Given the description of an element on the screen output the (x, y) to click on. 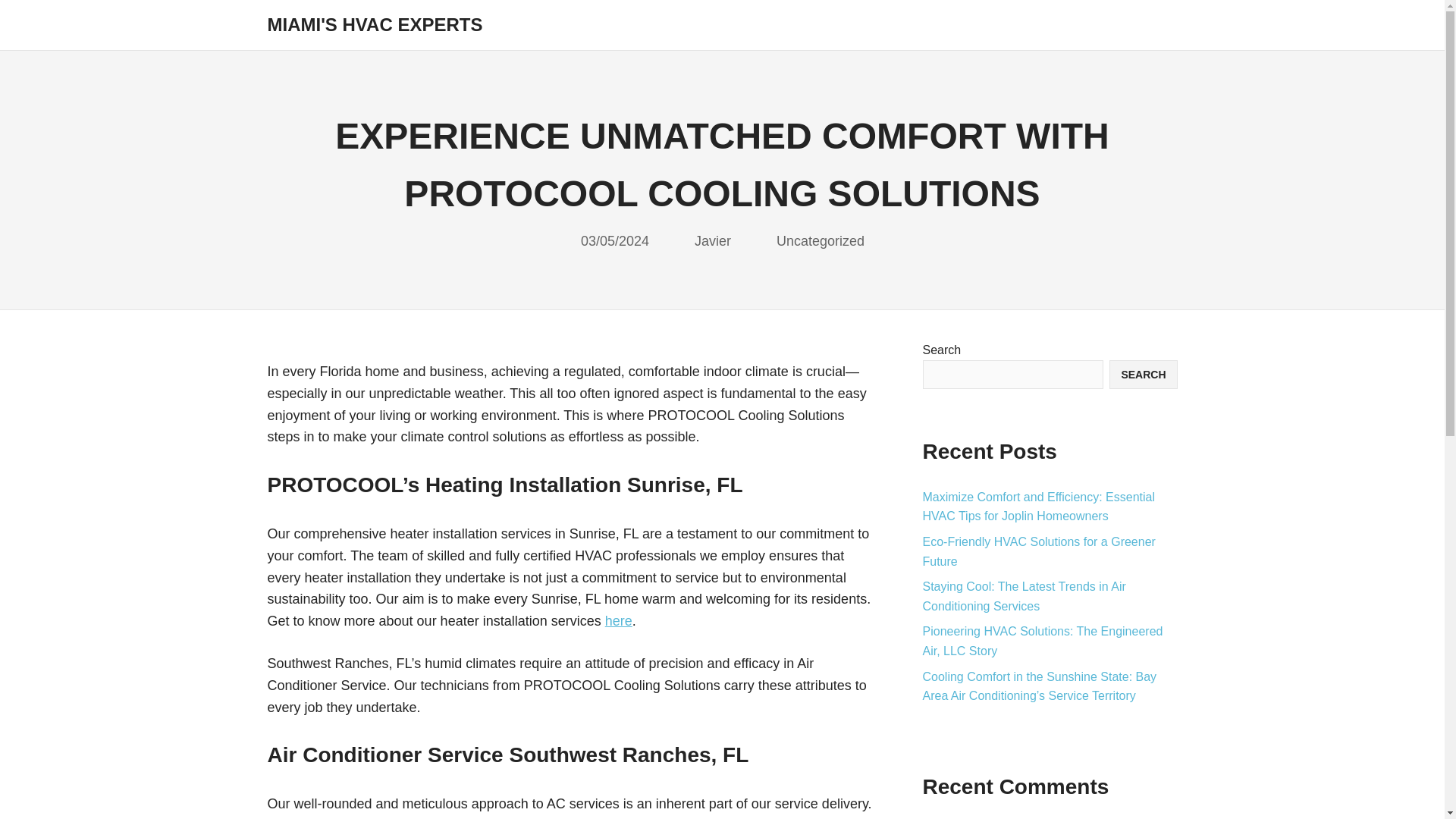
Eco-Friendly HVAC Solutions for a Greener Future (1037, 551)
SEARCH (1142, 374)
Uncategorized (820, 240)
Staying Cool: The Latest Trends in Air Conditioning Services (1023, 595)
Javier (712, 240)
MIAMI'S HVAC EXPERTS (373, 24)
Pioneering HVAC Solutions: The Engineered Air, LLC Story (1041, 640)
View all posts by Javier (712, 240)
here (618, 620)
